Given the description of an element on the screen output the (x, y) to click on. 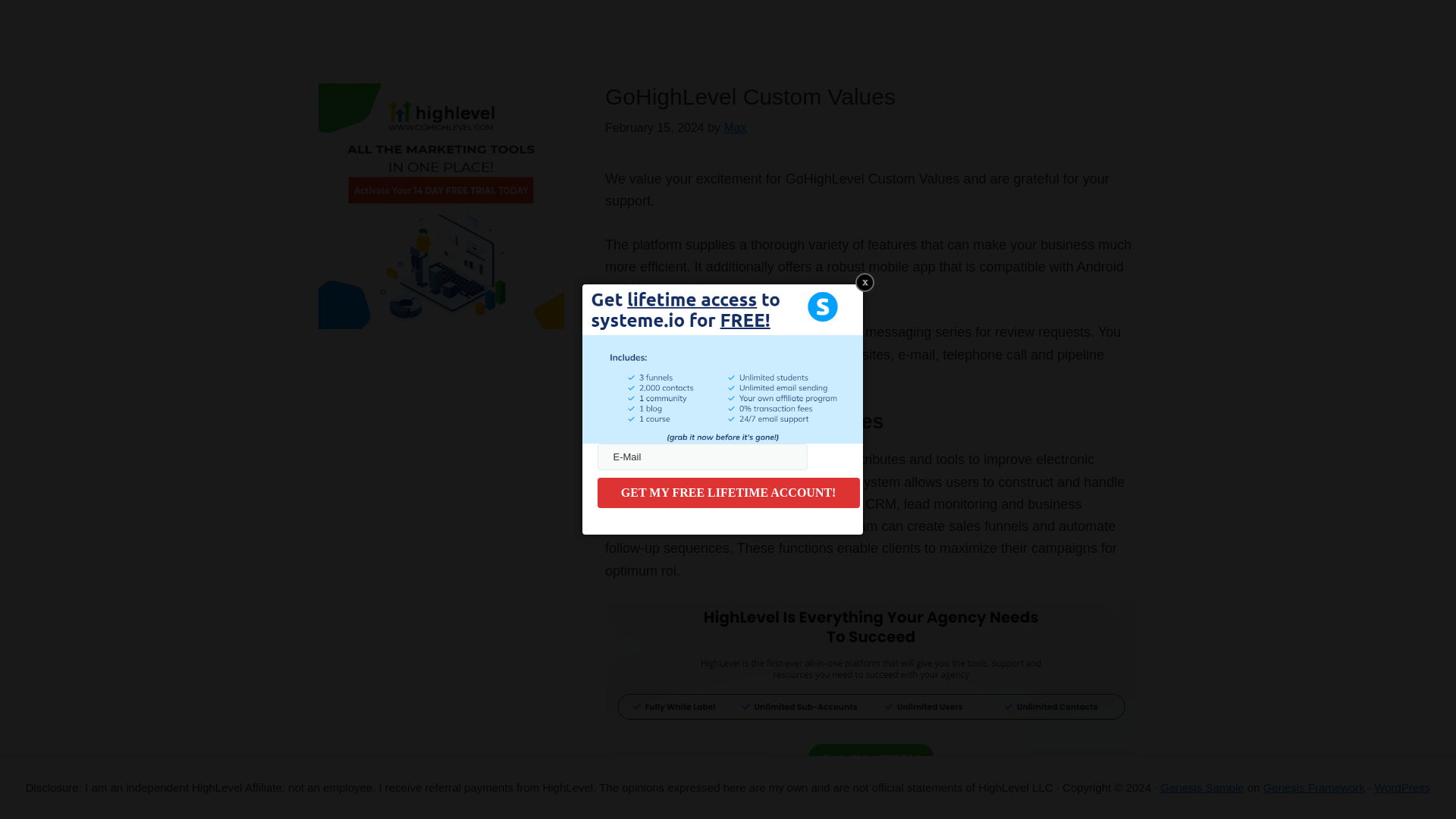
WordPress (1401, 787)
GET MY FREE LIFETIME ACCOUNT! (728, 492)
Genesis Framework (1314, 787)
GET MY FREE LIFETIME ACCOUNT! (728, 492)
Max (734, 127)
Genesis Sample (1202, 787)
